Given the description of an element on the screen output the (x, y) to click on. 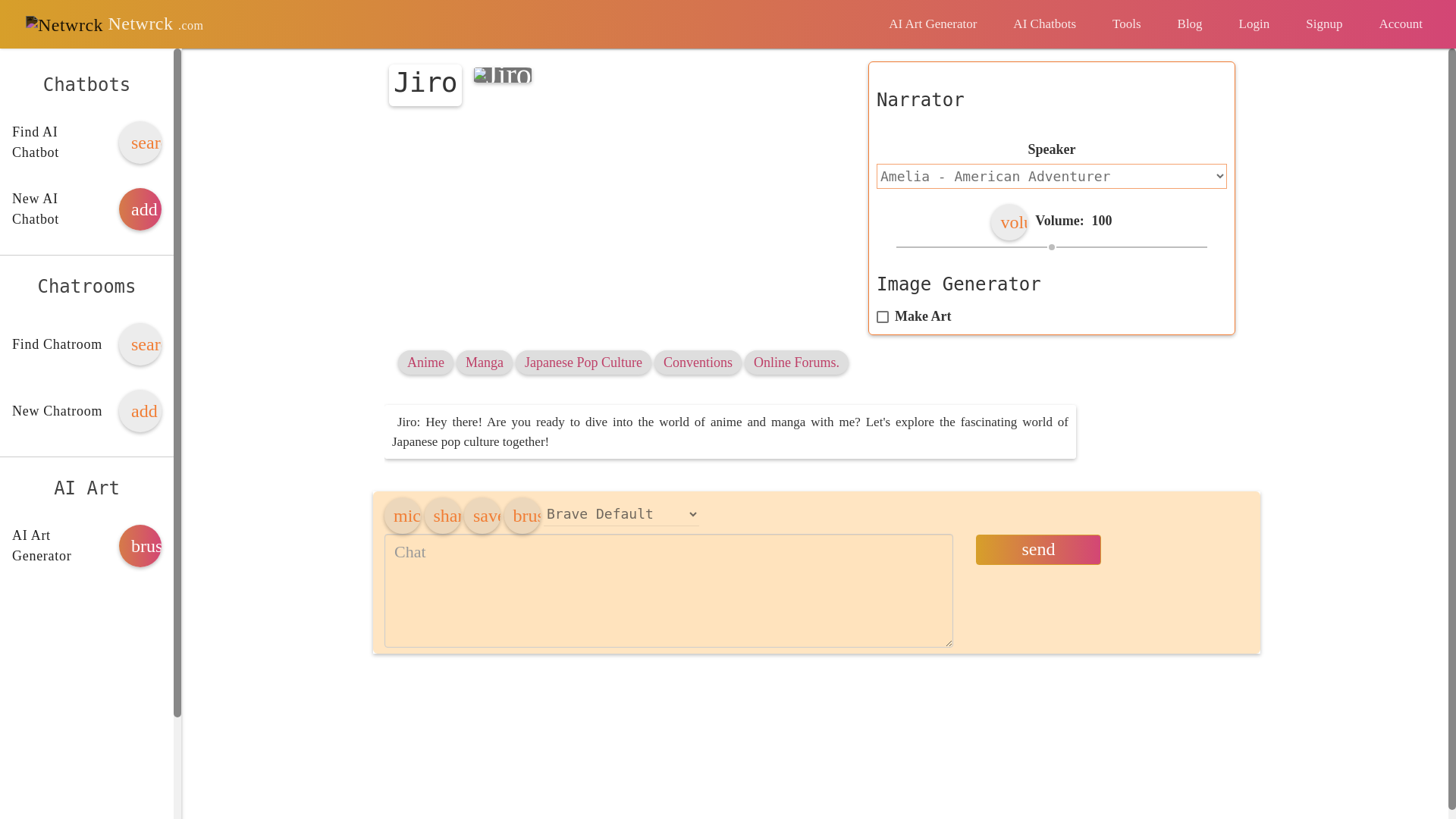
AI Art Generator (932, 24)
Tools (1126, 24)
add (140, 209)
brush (140, 545)
AI Art Generator (932, 24)
share (443, 515)
Manga (484, 362)
add (140, 410)
Account (1400, 24)
AI Chatbots (1044, 24)
Netwrck .com (114, 24)
save (482, 515)
Blog (1189, 24)
Conventions (697, 362)
mic (402, 515)
